Given the description of an element on the screen output the (x, y) to click on. 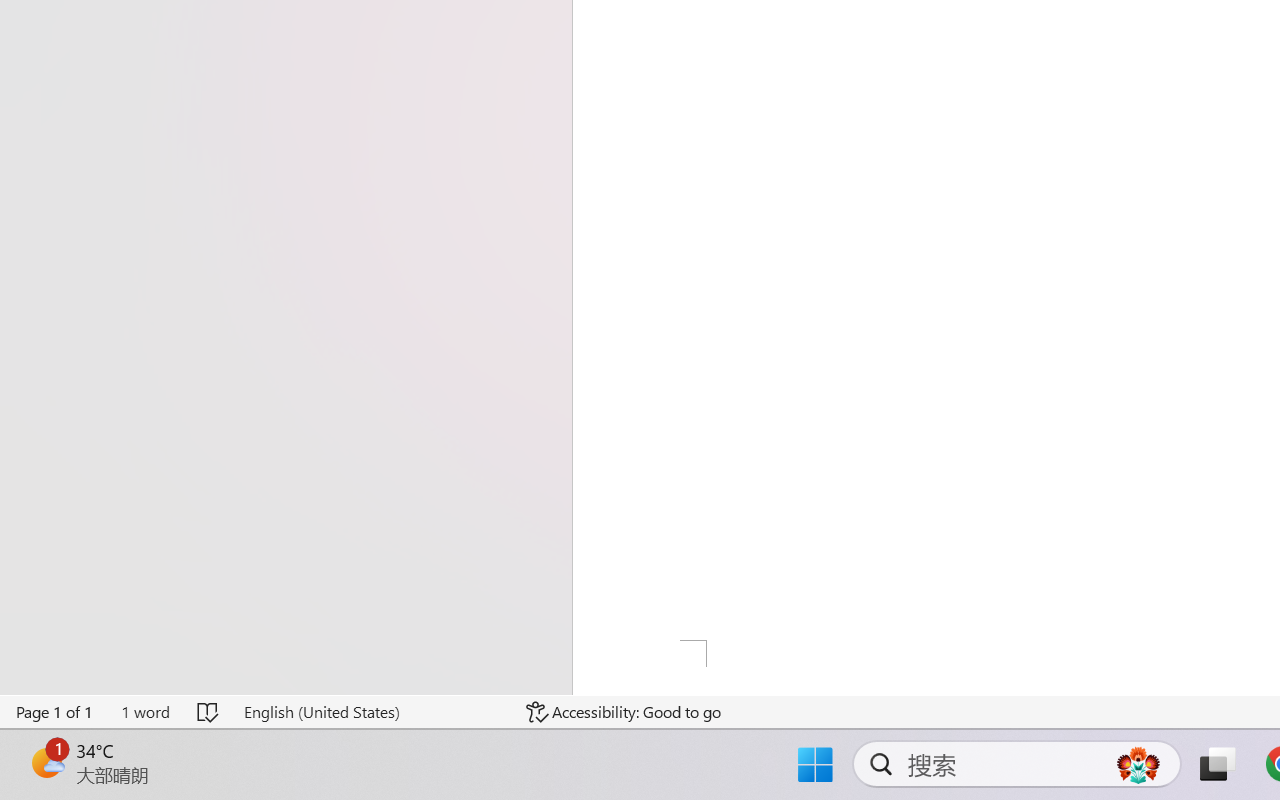
AutomationID: DynamicSearchBoxGleamImage (1138, 764)
Language English (United States) (370, 712)
Word Count 1 word (145, 712)
Spelling and Grammar Check No Errors (208, 712)
AutomationID: BadgeAnchorLargeTicker (46, 762)
Accessibility Checker Accessibility: Good to go (623, 712)
Page Number Page 1 of 1 (55, 712)
